Given the description of an element on the screen output the (x, y) to click on. 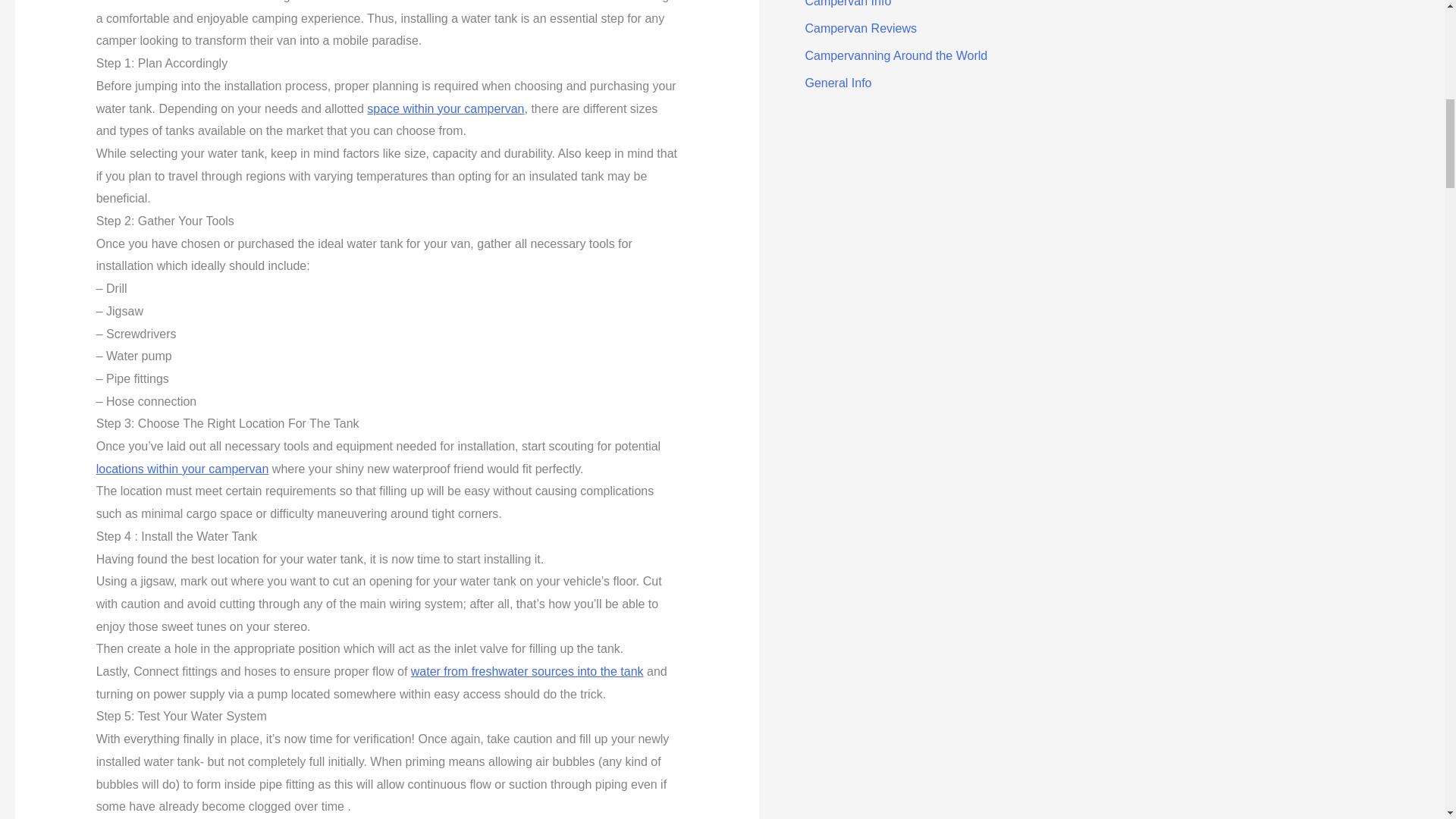
water from freshwater sources into the tank (526, 671)
locations within your campervan (182, 468)
space within your campervan (445, 107)
